Given the description of an element on the screen output the (x, y) to click on. 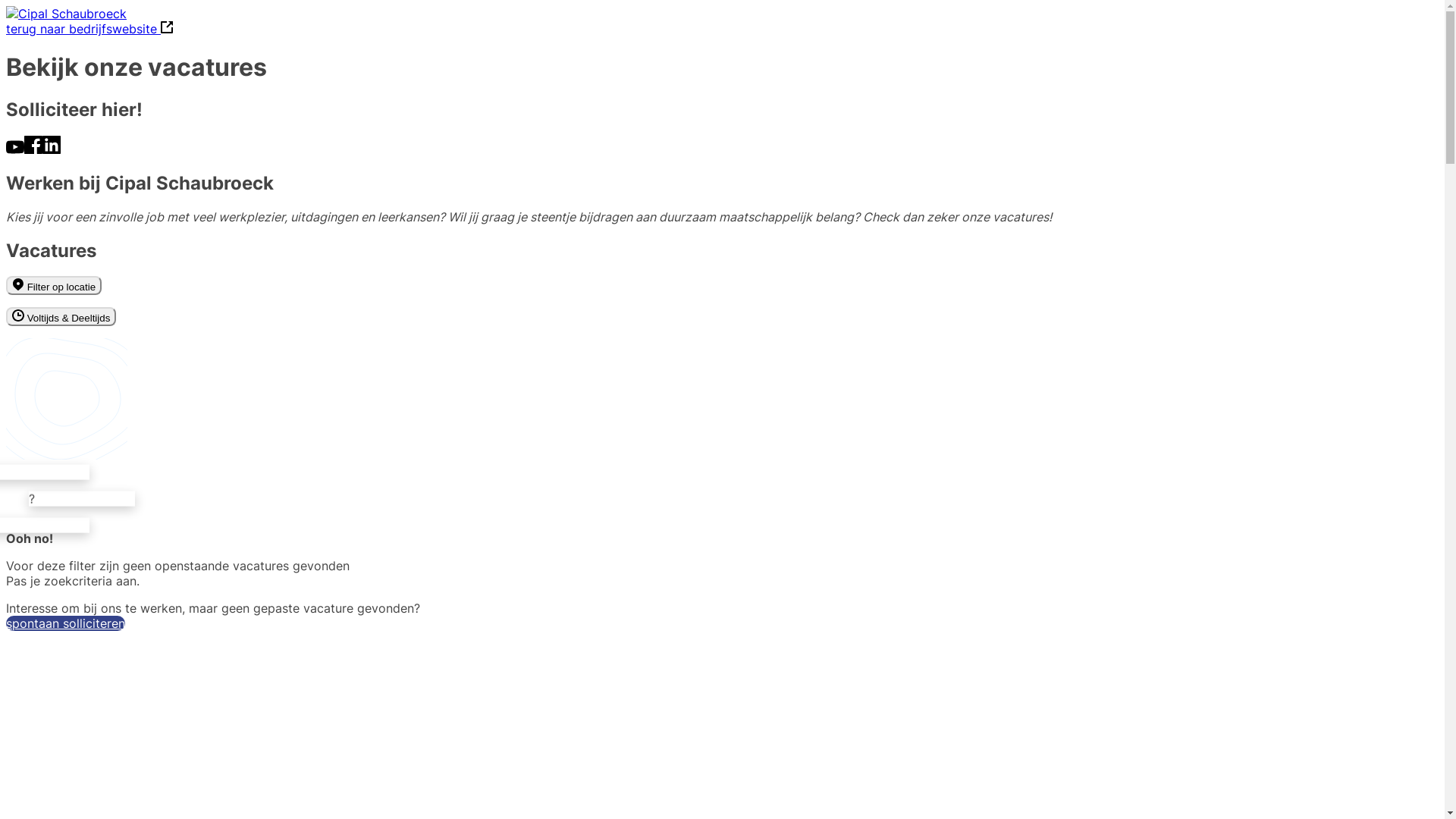
spontaan solliciteren Element type: text (65, 622)
youtube Element type: hover (15, 148)
Voltijds & Deeltijds Element type: text (61, 316)
facebook Element type: hover (33, 148)
terug naar bedrijfswebsite Element type: text (89, 28)
Filter op locatie Element type: text (53, 285)
linkedin Element type: hover (51, 148)
